Given the description of an element on the screen output the (x, y) to click on. 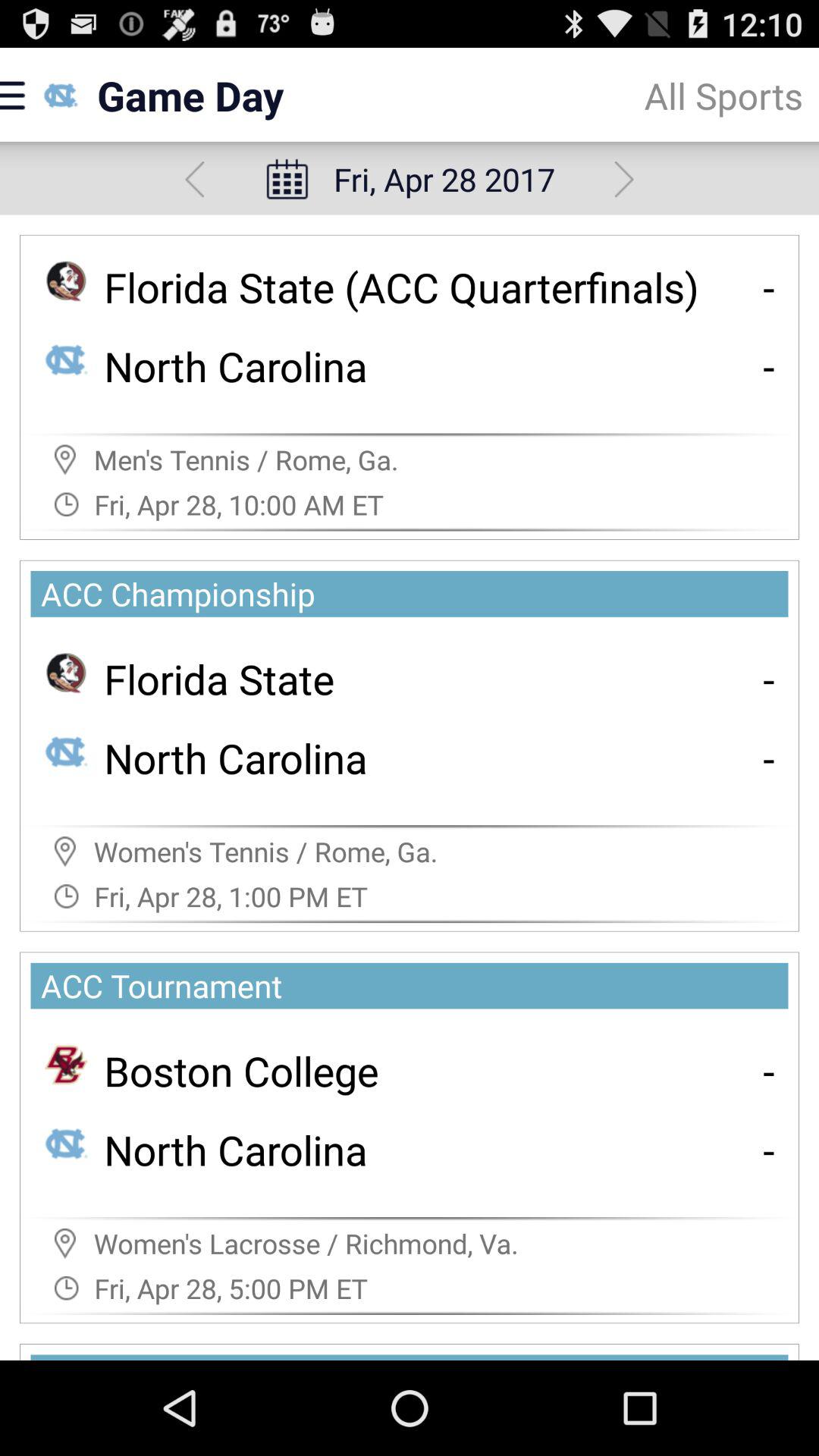
next page (623, 178)
